Given the description of an element on the screen output the (x, y) to click on. 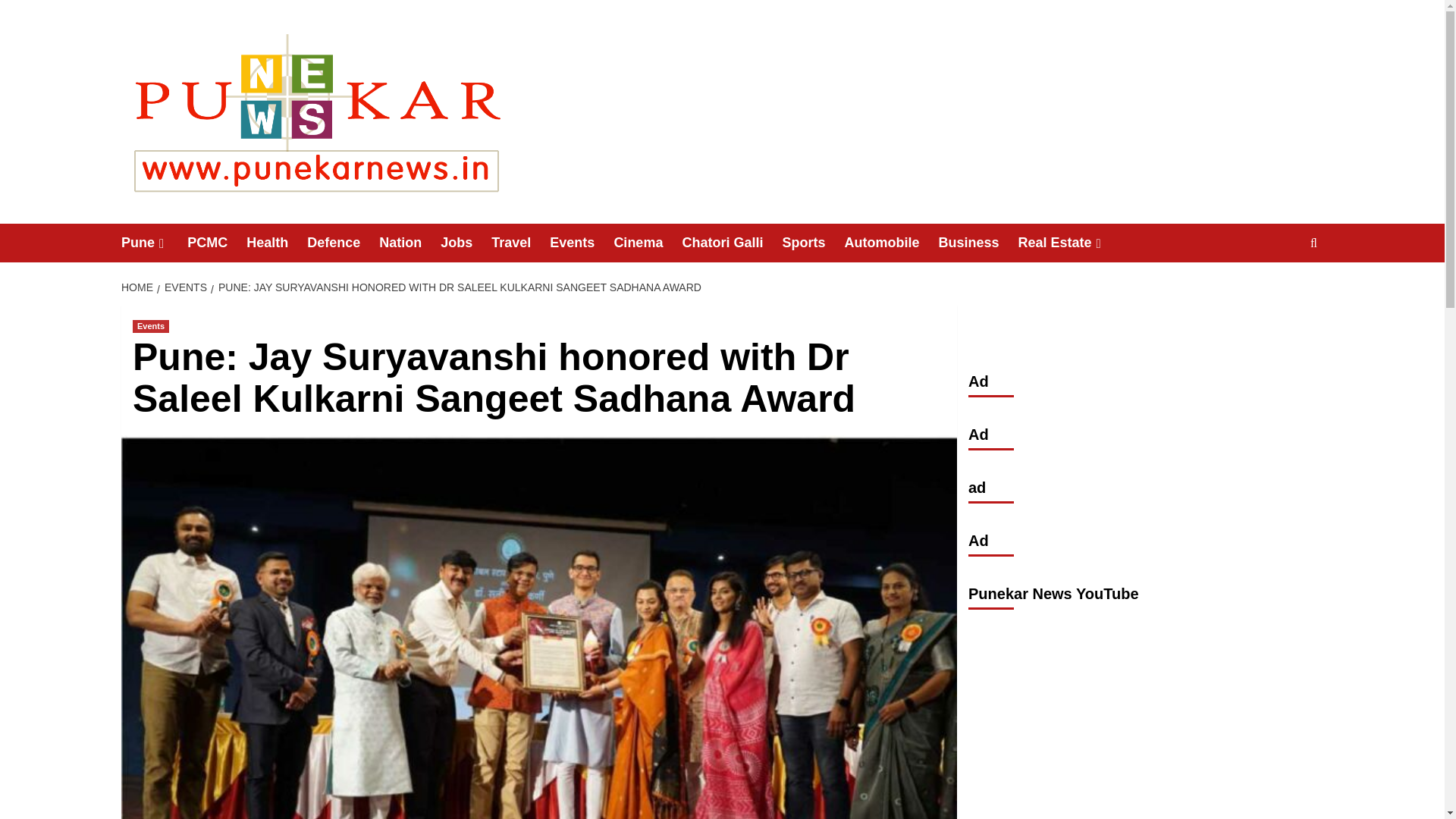
Nation (409, 242)
PCMC (216, 242)
Events (581, 242)
Real Estate (1070, 242)
Cinema (646, 242)
EVENTS (184, 287)
Events (150, 326)
Sports (812, 242)
Travel (521, 242)
